Given the description of an element on the screen output the (x, y) to click on. 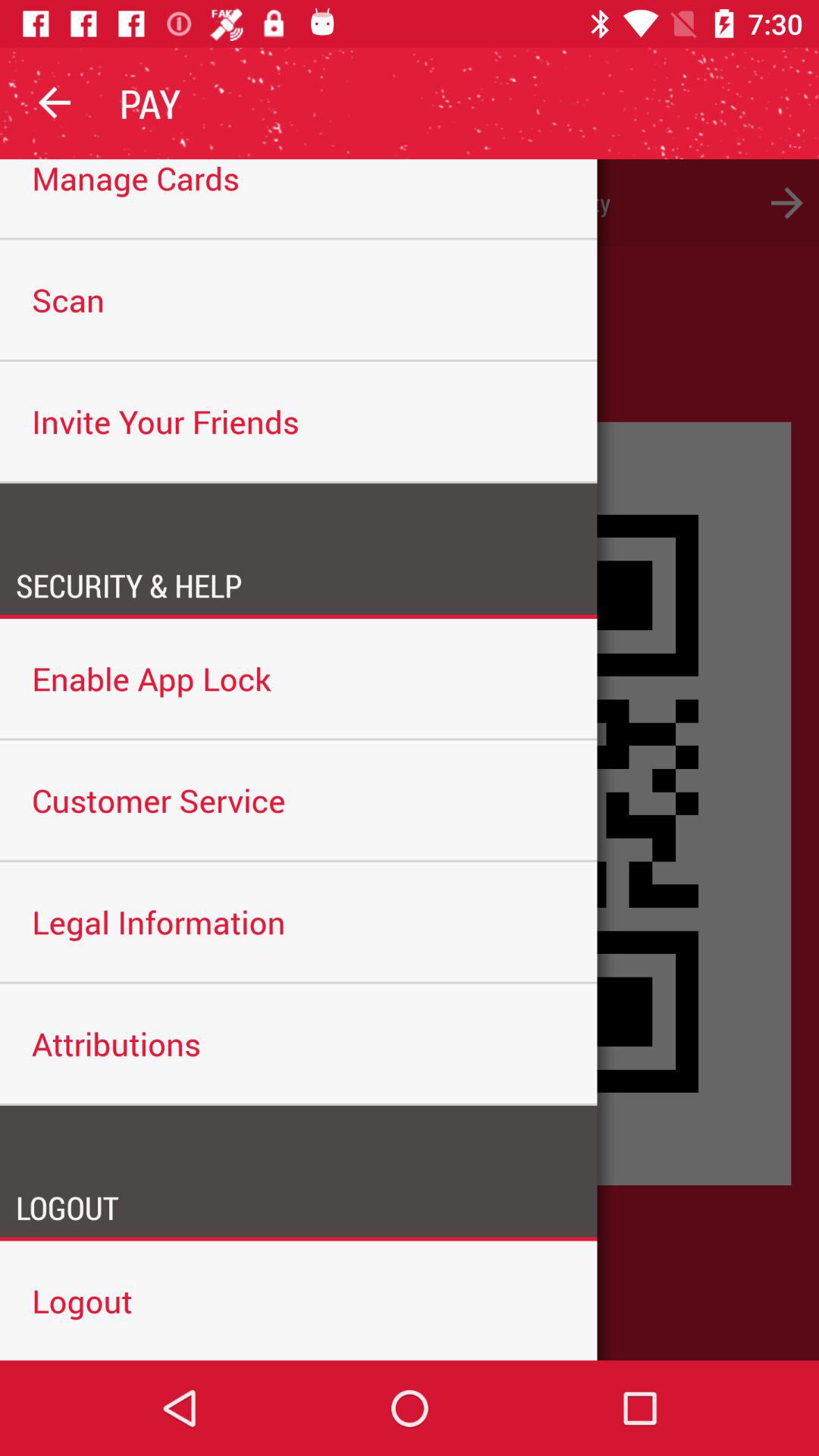
click attributions (298, 1043)
